Given the description of an element on the screen output the (x, y) to click on. 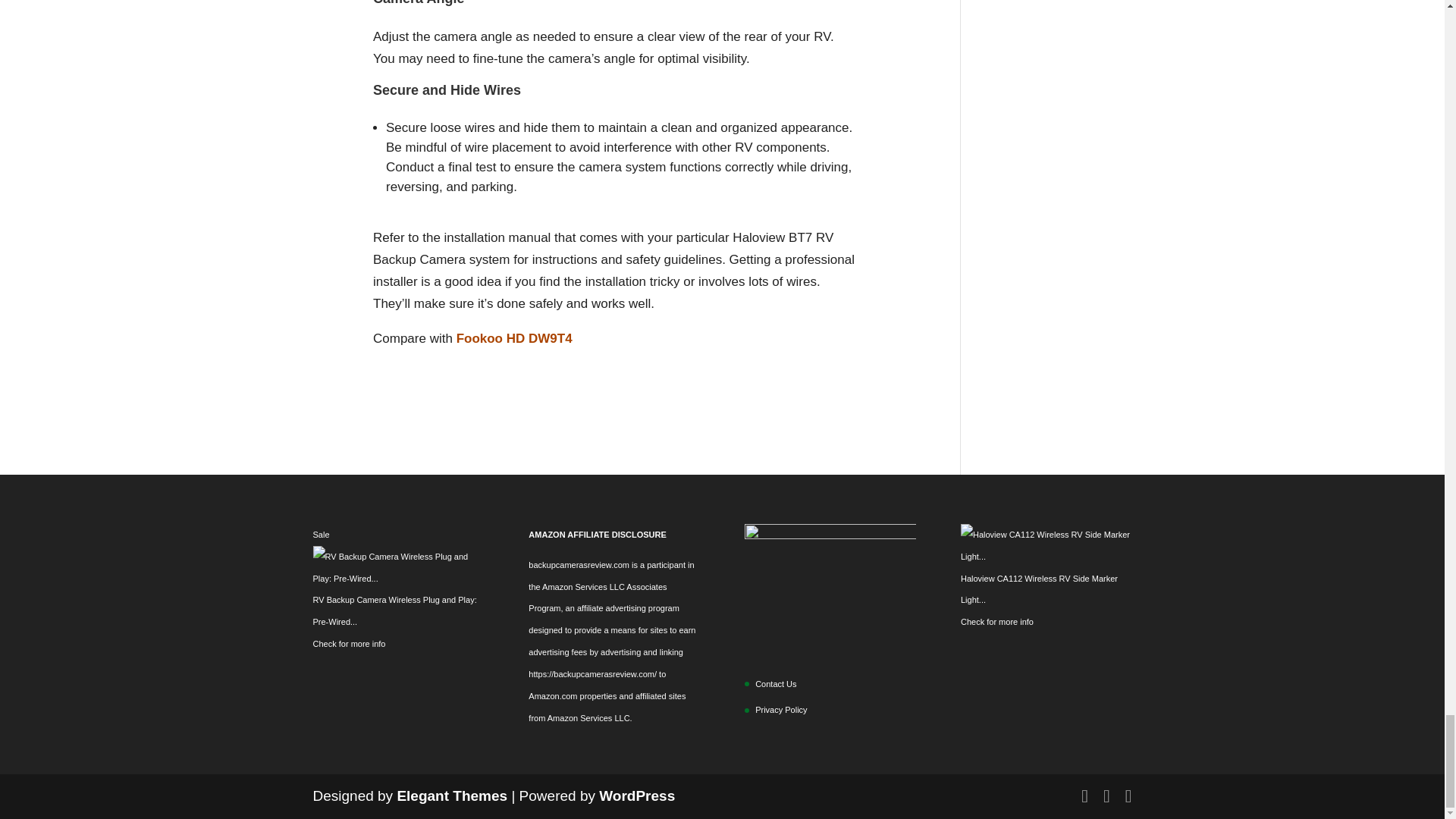
Check for more info (996, 621)
Check for more info (349, 643)
Fookoo HD DW9T4 (514, 338)
Contact Us (775, 683)
Haloview CA112 Wireless RV Side Marker Light... (1039, 589)
Elegant Themes (451, 795)
RV Backup Camera Wireless Plug and Play: Pre-Wired... (394, 610)
Privacy Policy (780, 709)
WordPress (636, 795)
